Given the description of an element on the screen output the (x, y) to click on. 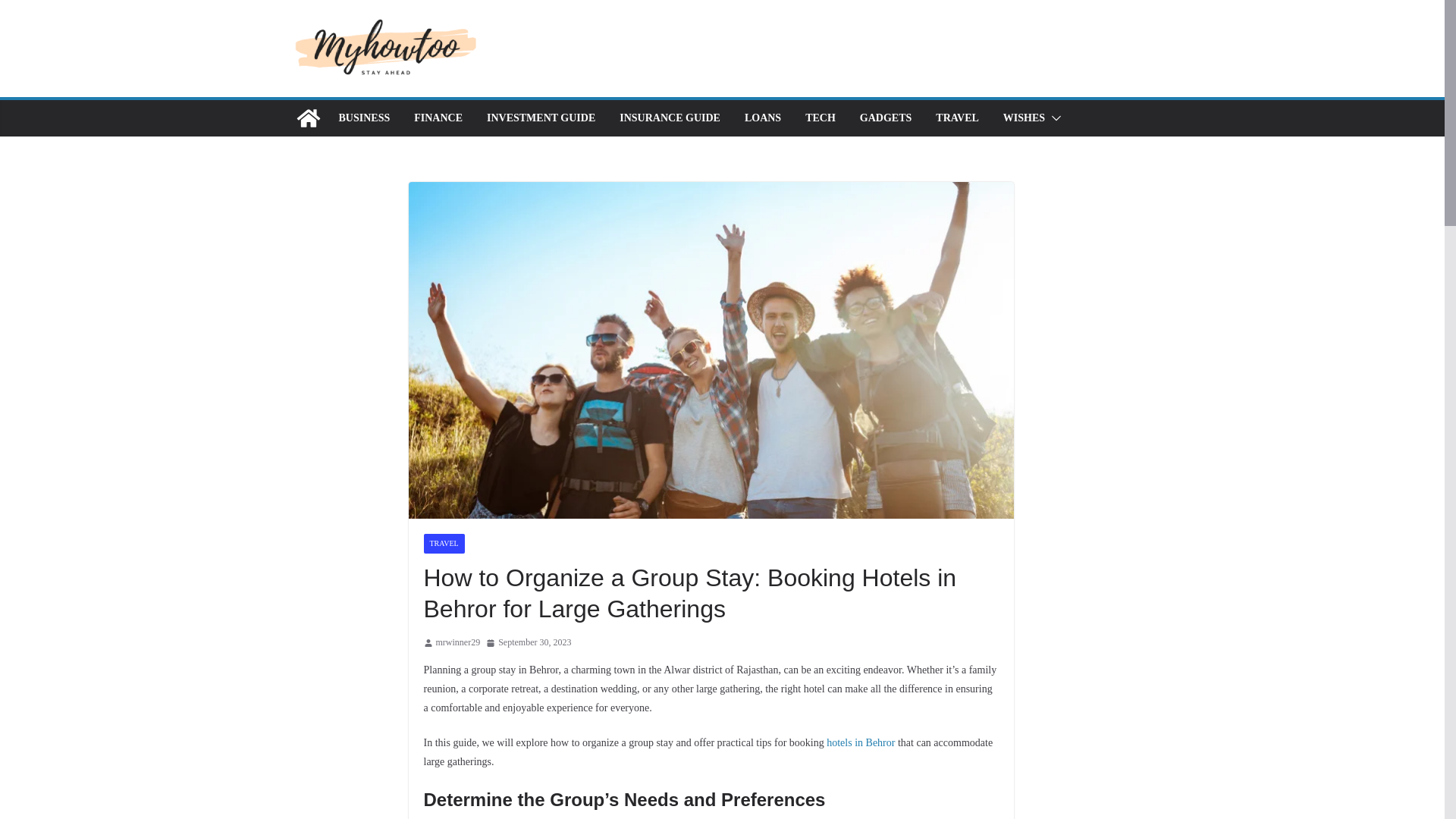
INVESTMENT GUIDE (540, 117)
FINANCE (438, 117)
mrwinner29 (457, 642)
mrwinner29 (457, 642)
LOANS (762, 117)
Read Latest Articles (307, 117)
WISHES (1024, 117)
hotels in Behror (861, 742)
TRAVEL (443, 543)
TRAVEL (957, 117)
INSURANCE GUIDE (670, 117)
GADGETS (885, 117)
BUSINESS (363, 117)
7:34 pm (528, 642)
September 30, 2023 (528, 642)
